Given the description of an element on the screen output the (x, y) to click on. 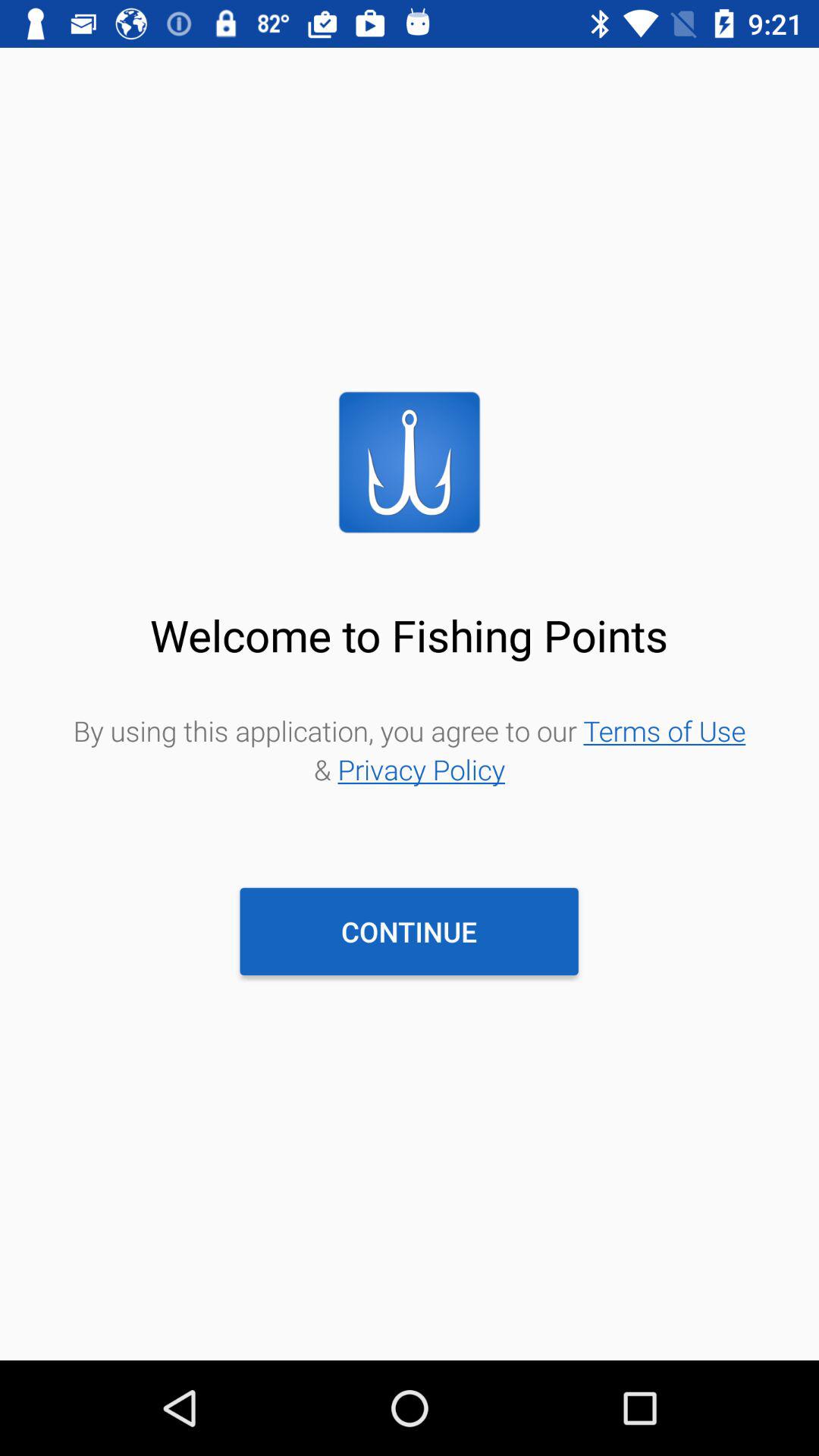
press the item below the by using this (409, 931)
